Given the description of an element on the screen output the (x, y) to click on. 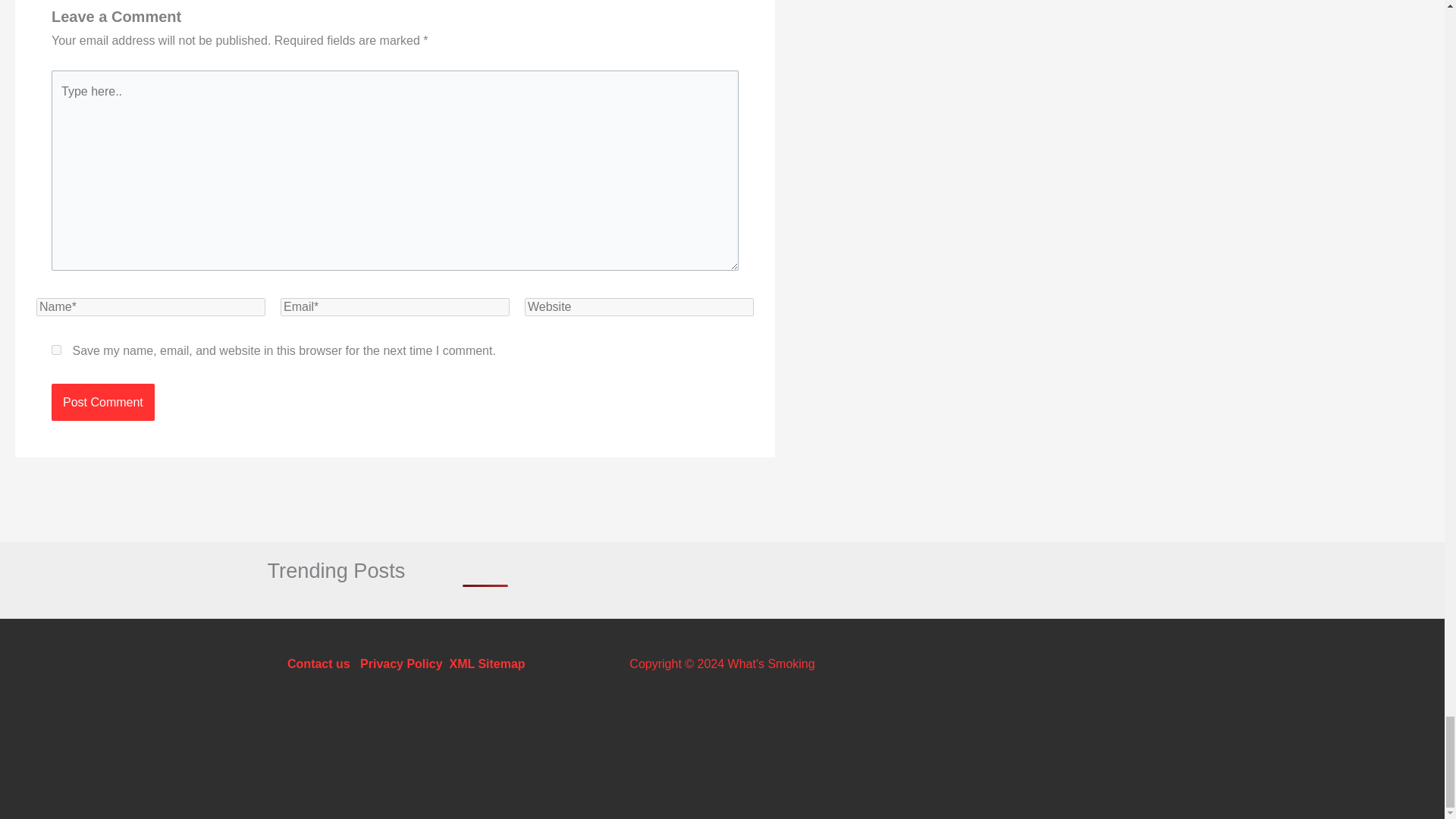
Post Comment (102, 402)
yes (55, 349)
